Given the description of an element on the screen output the (x, y) to click on. 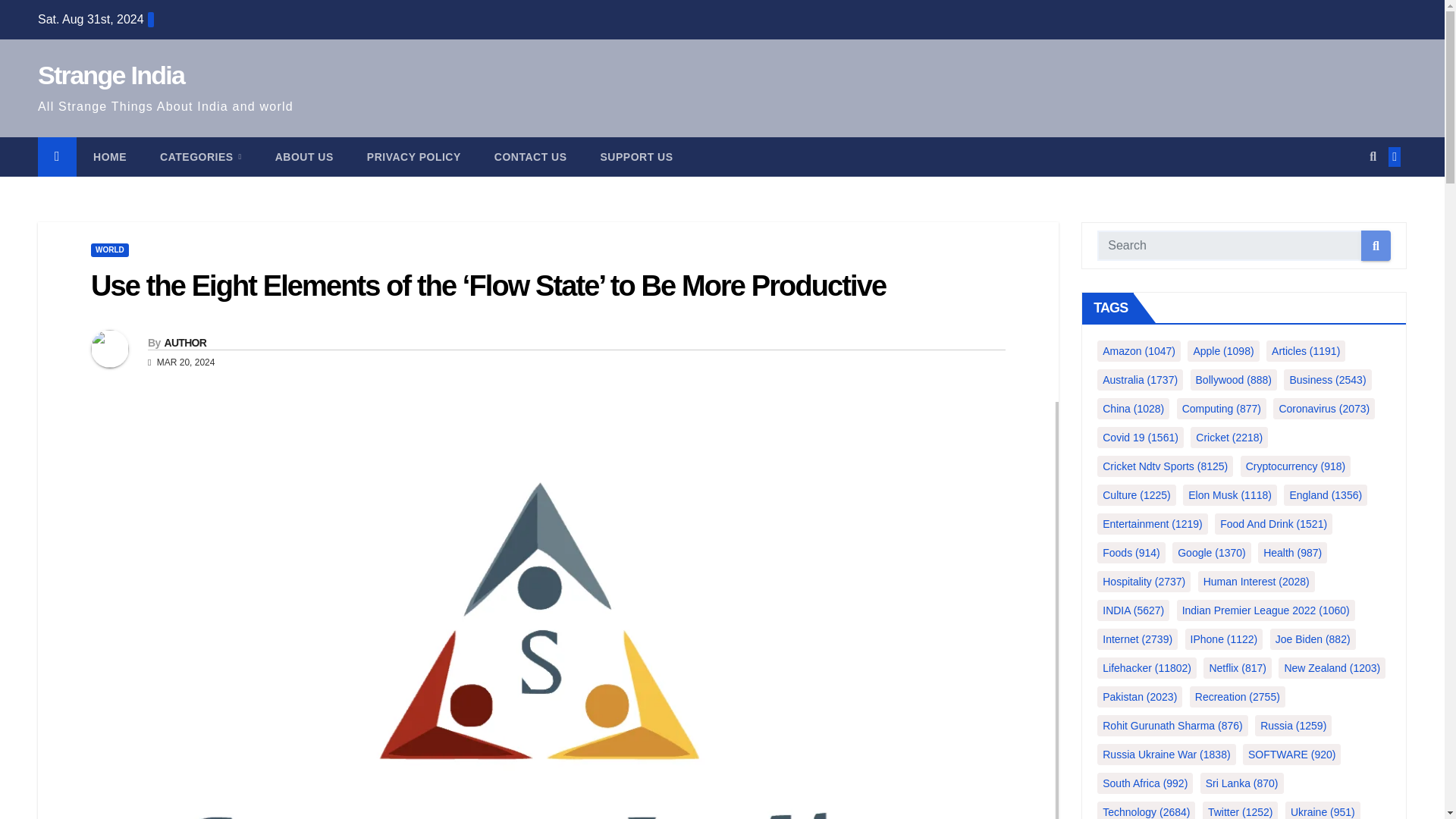
Home (109, 156)
ABOUT US (304, 156)
SUPPORT US (636, 156)
CATEGORIES (200, 156)
SUPPORT US (636, 156)
PRIVACY POLICY (413, 156)
PRIVACY POLICY (413, 156)
Strange India (110, 74)
CONTACT US (530, 156)
ABOUT US (304, 156)
